Given the description of an element on the screen output the (x, y) to click on. 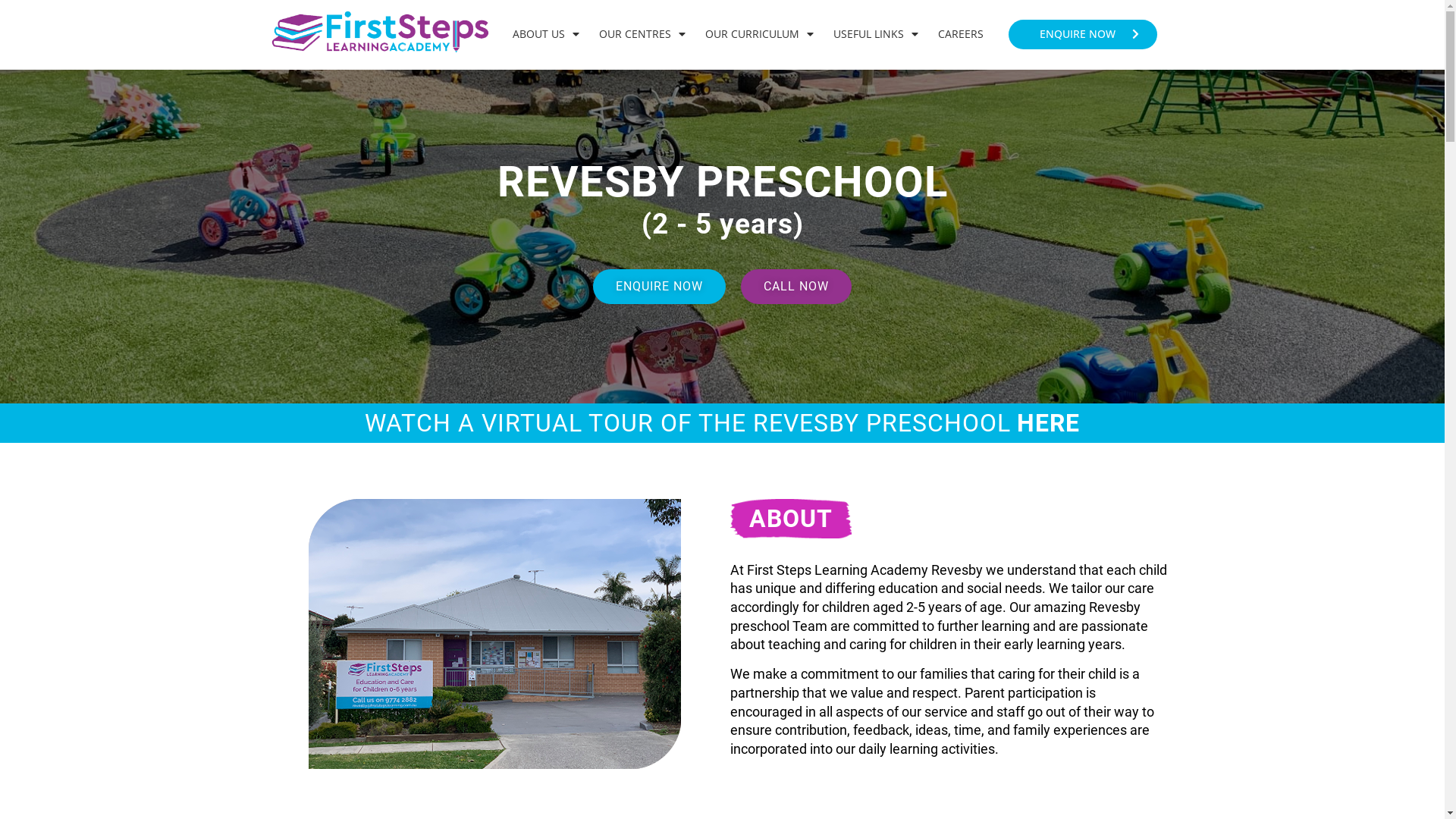
Revesby Preschool (2 - 5 years) Element type: hover (494, 633)
HERE Element type: text (1047, 422)
ABOUT US Element type: text (545, 33)
OUR CENTRES Element type: text (642, 33)
ENQUIRE NOW Element type: text (1082, 33)
CALL NOW Element type: text (795, 286)
OUR CURRICULUM Element type: text (759, 33)
USEFUL LINKS Element type: text (875, 33)
ENQUIRE NOW Element type: text (659, 286)
CAREERS Element type: text (960, 33)
